Given the description of an element on the screen output the (x, y) to click on. 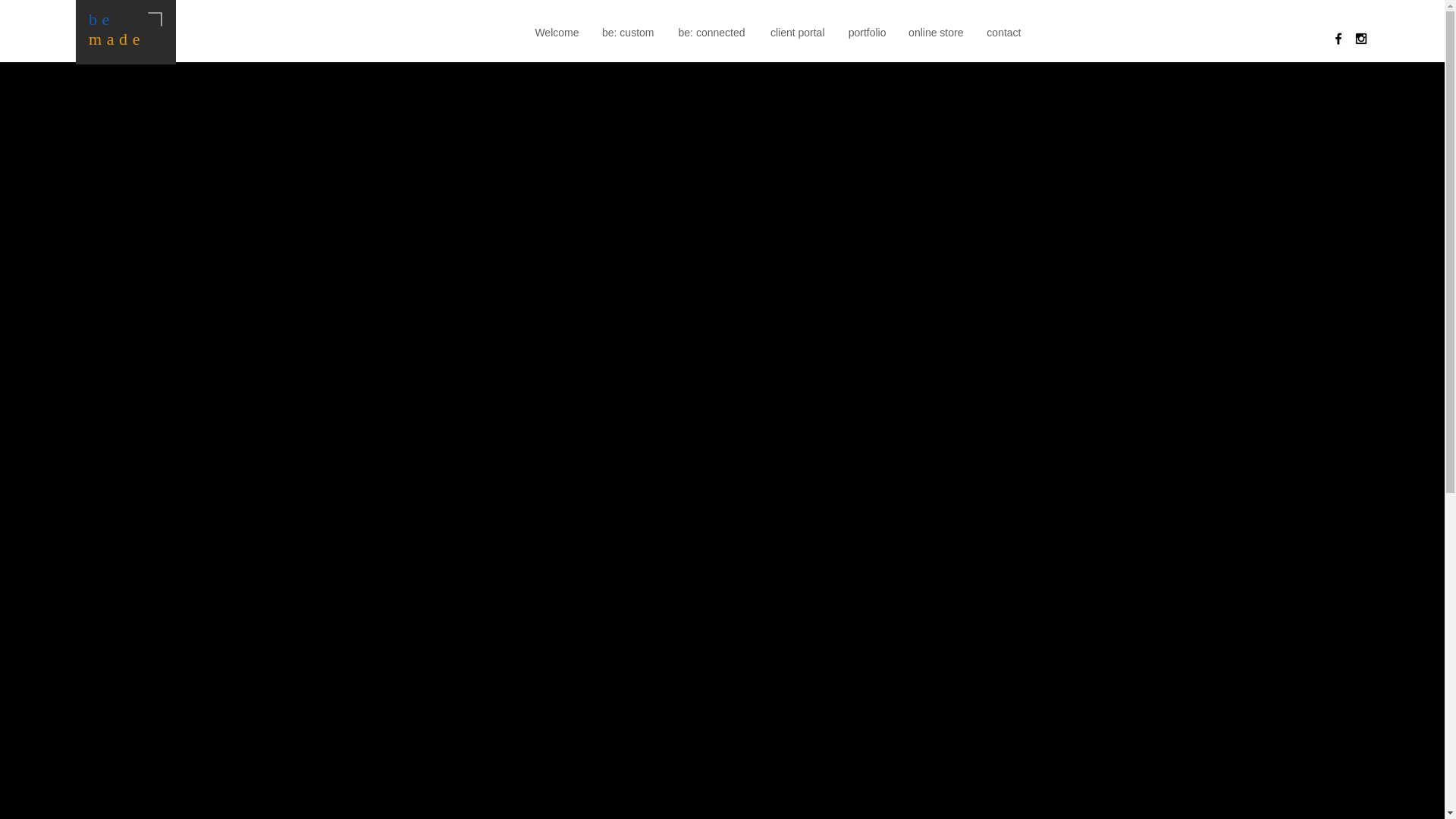
be: custom (625, 32)
be: connected (709, 32)
contact (1002, 32)
portfolio (864, 32)
online store (935, 32)
Welcome (555, 32)
client portal (794, 32)
